Given the description of an element on the screen output the (x, y) to click on. 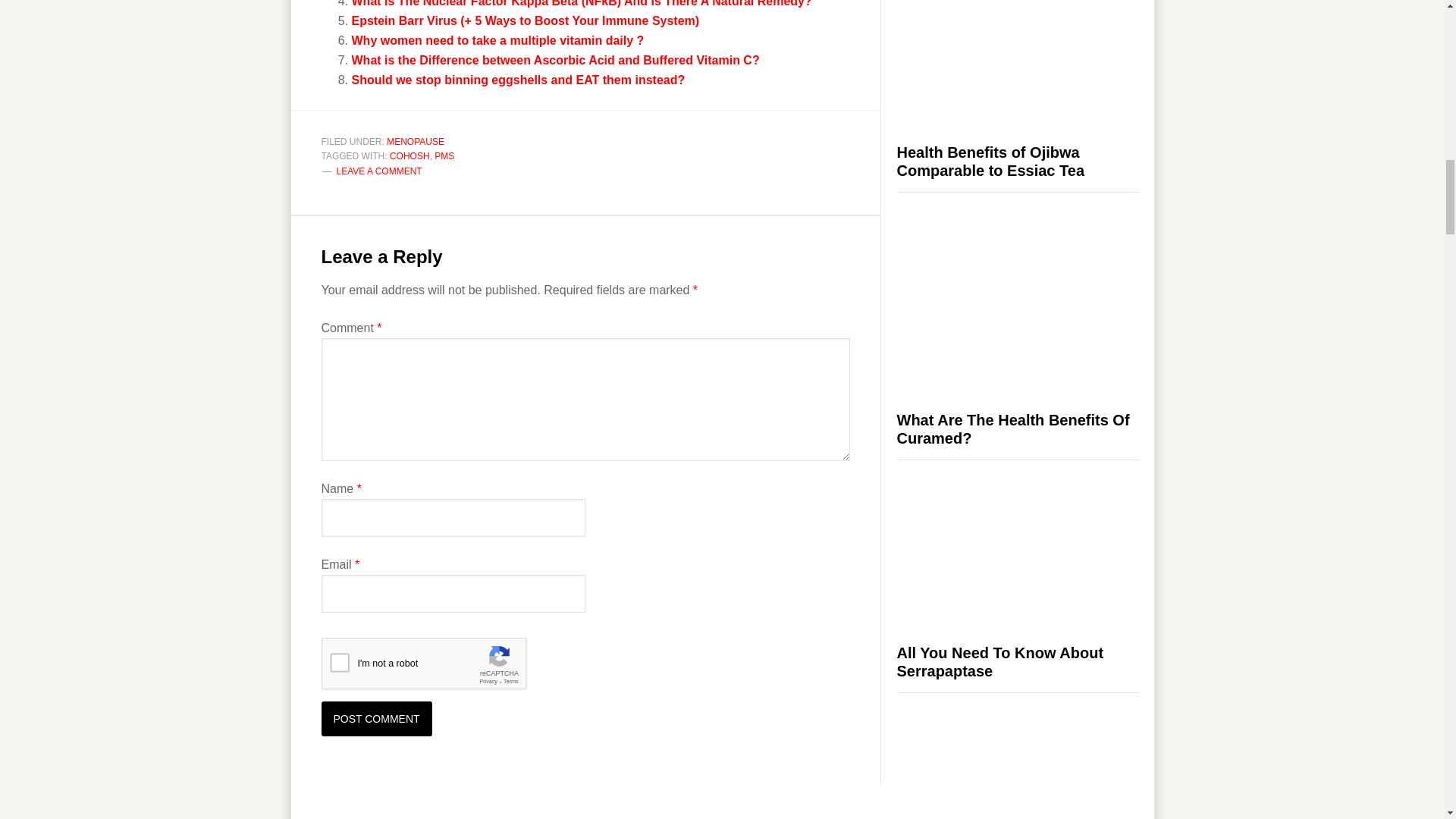
Post Comment (376, 718)
LEAVE A COMMENT (379, 171)
COHOSH (409, 155)
reCAPTCHA (436, 667)
PMS (443, 155)
MENOPAUSE (415, 141)
Should we stop binning eggshells and EAT them instead? (518, 79)
Why women need to take a multiple vitamin daily ? (498, 40)
Post Comment (376, 718)
Why women need to take a multiple vitamin daily ? (498, 40)
Should we stop binning eggshells and EAT them instead? (518, 79)
